Given the description of an element on the screen output the (x, y) to click on. 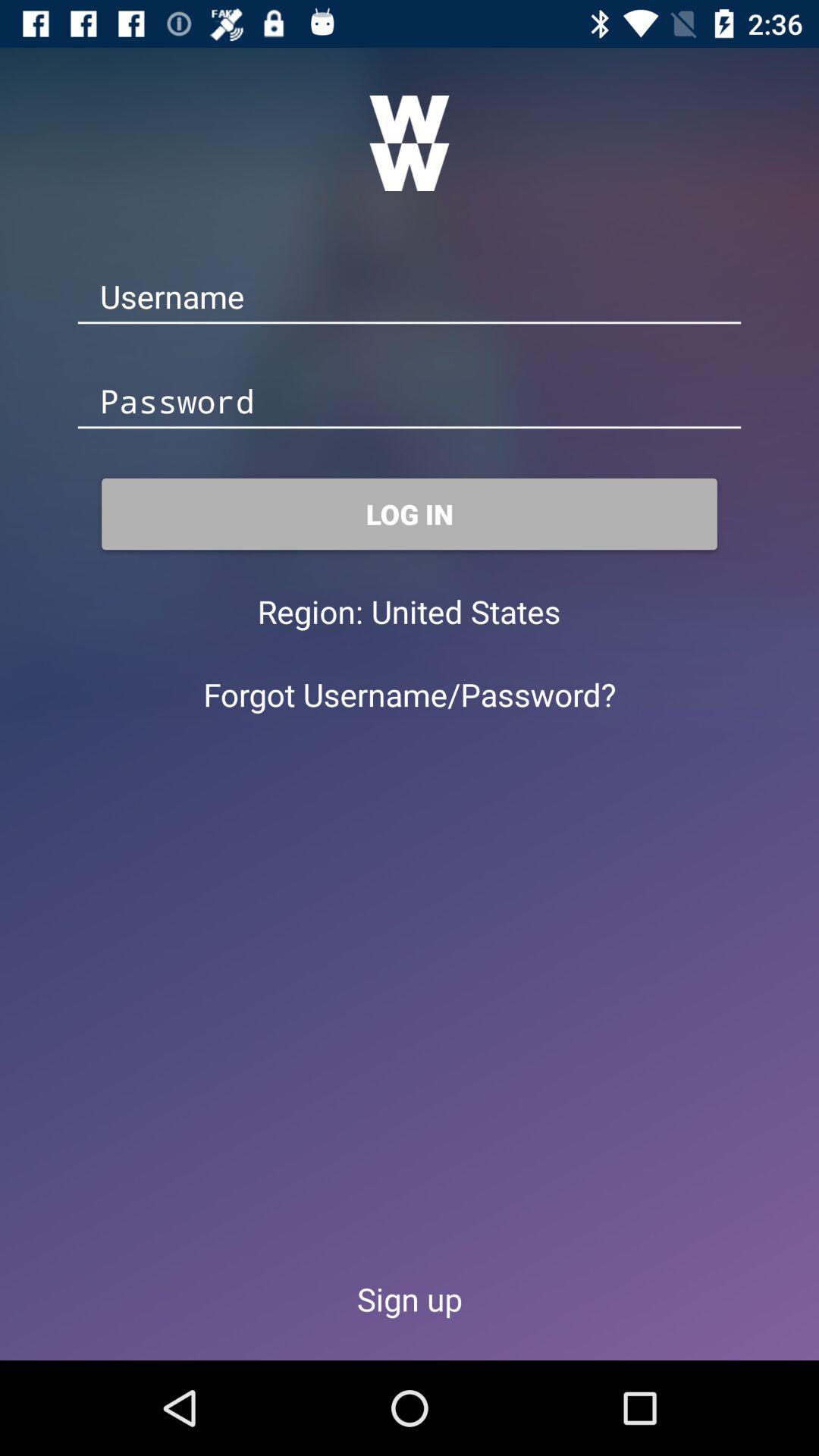
open the icon below region:  icon (409, 694)
